Given the description of an element on the screen output the (x, y) to click on. 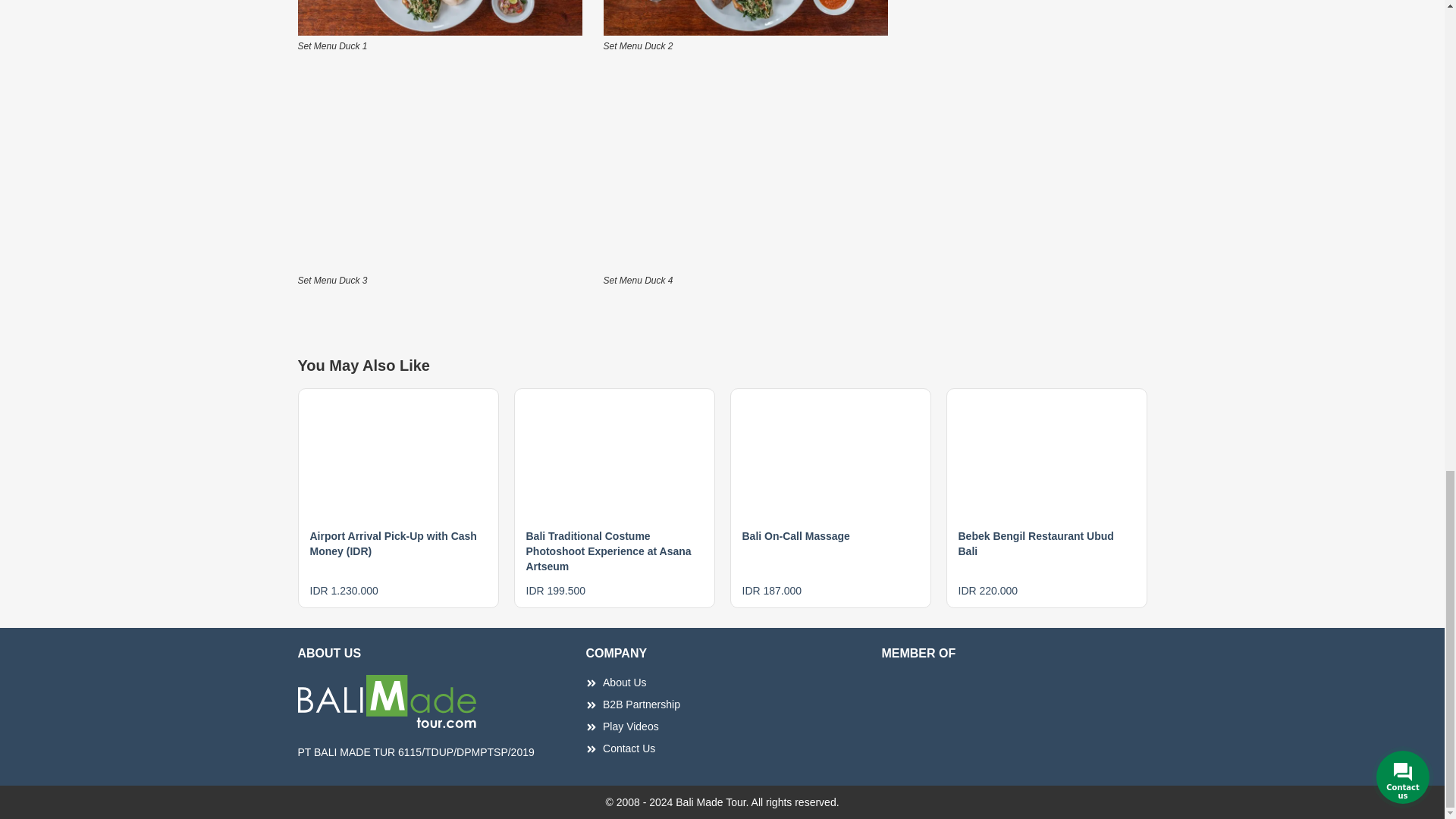
Bebek Bengil Restaurant Ubud Bali (1035, 543)
Play Videos (722, 726)
Bali Made Tour (438, 171)
Bali Made Tour (438, 18)
Bali Made Tour (746, 18)
About Us (722, 682)
Bali Made Tour (746, 171)
B2B Partnership (722, 704)
Bali On-Call Massage (794, 535)
Contact Us (722, 748)
